Given the description of an element on the screen output the (x, y) to click on. 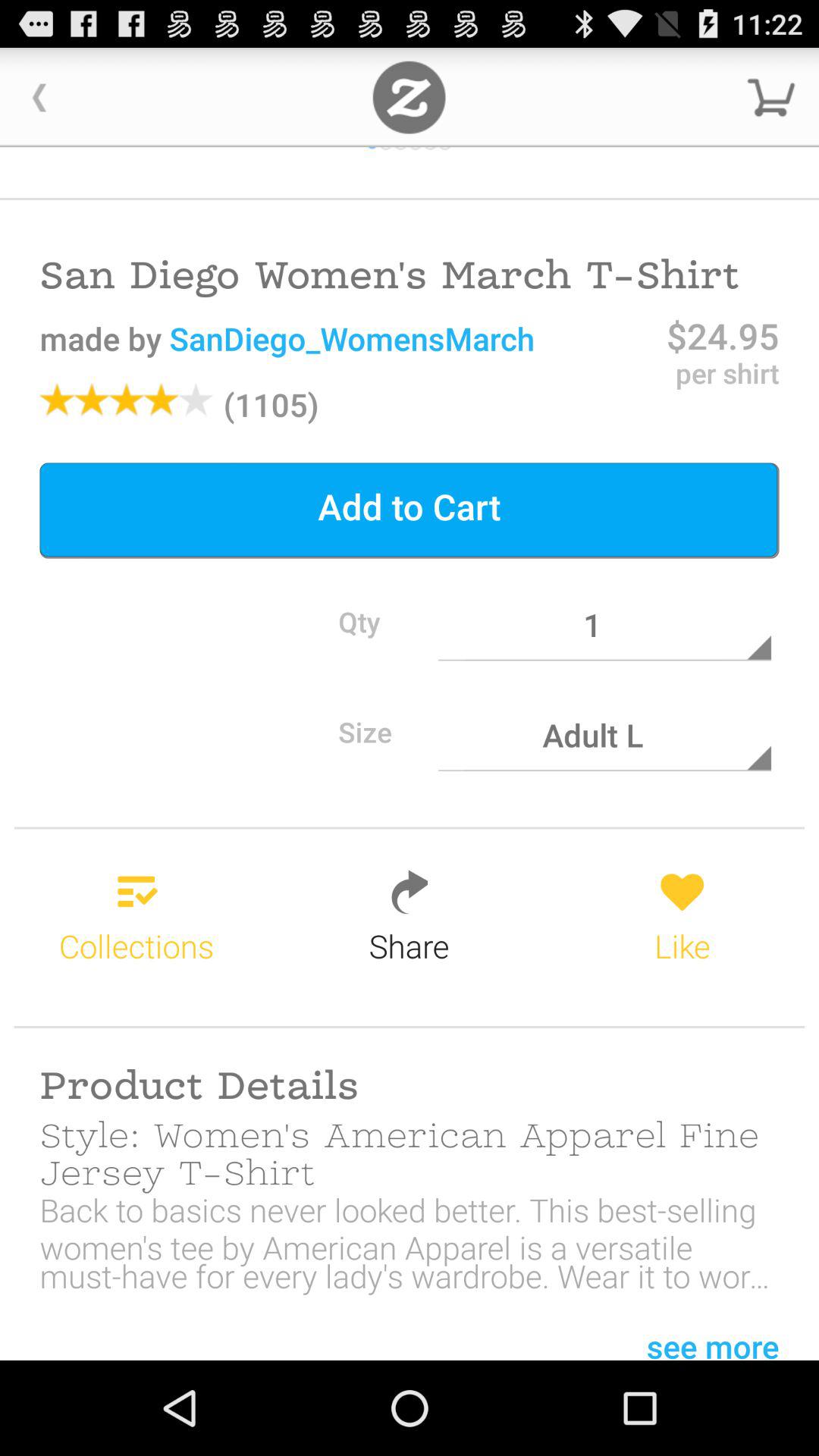
main website page (408, 97)
